Given the description of an element on the screen output the (x, y) to click on. 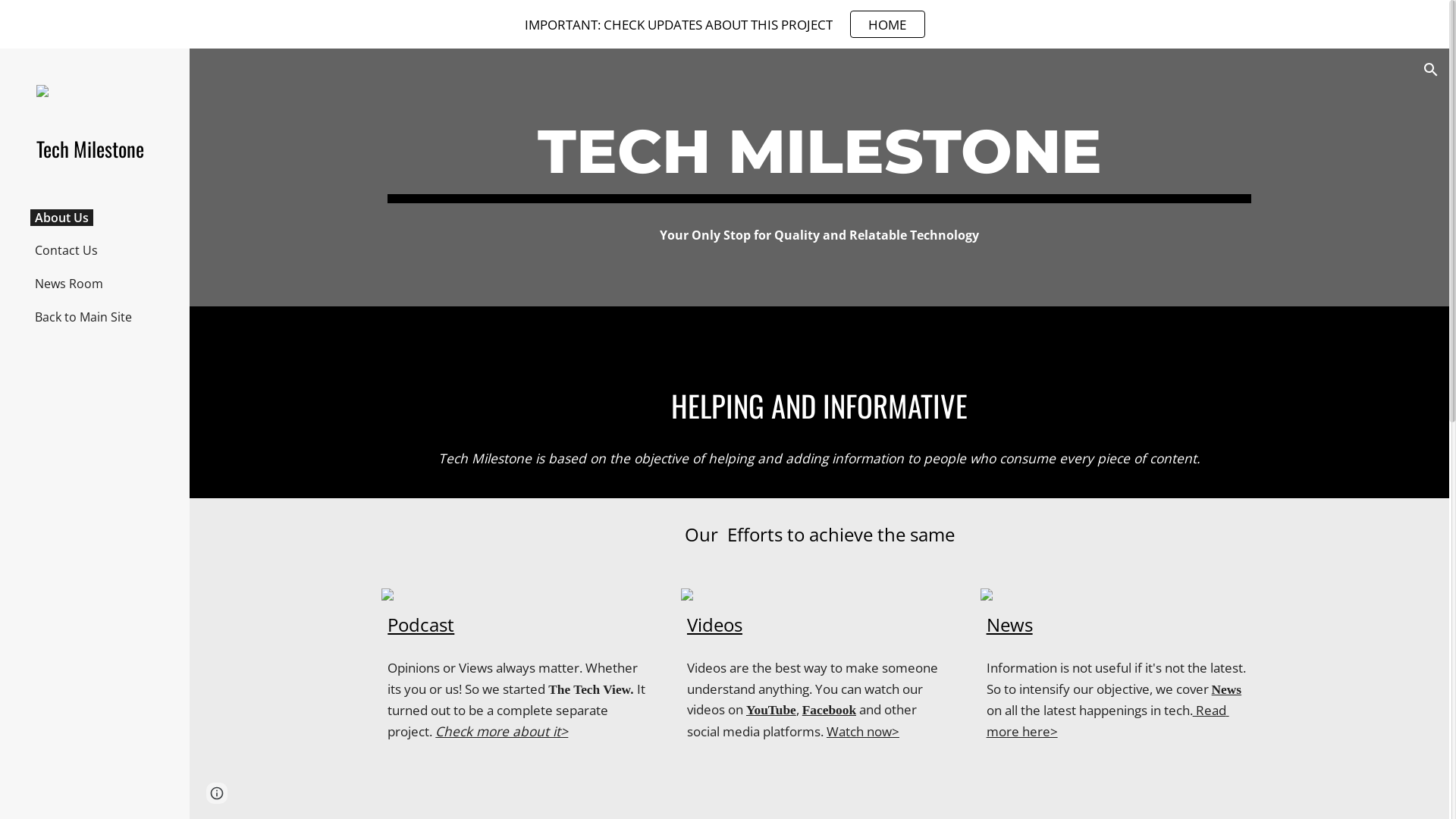
Tech Milestone Element type: text (100, 148)
Watch now> Element type: text (862, 730)
 Read more here> Element type: text (1107, 720)
Videos Element type: text (714, 624)
News Room Element type: text (68, 283)
Facebook Element type: text (829, 709)
Back to Main Site Element type: text (83, 316)
Check more about it> Element type: text (501, 730)
YouTube Element type: text (771, 709)
Contact Us Element type: text (66, 249)
HOME Element type: text (887, 24)
News Element type: text (1009, 624)
About Us Element type: text (61, 217)
News Element type: text (1226, 689)
Podcast Element type: text (420, 624)
